Given the description of an element on the screen output the (x, y) to click on. 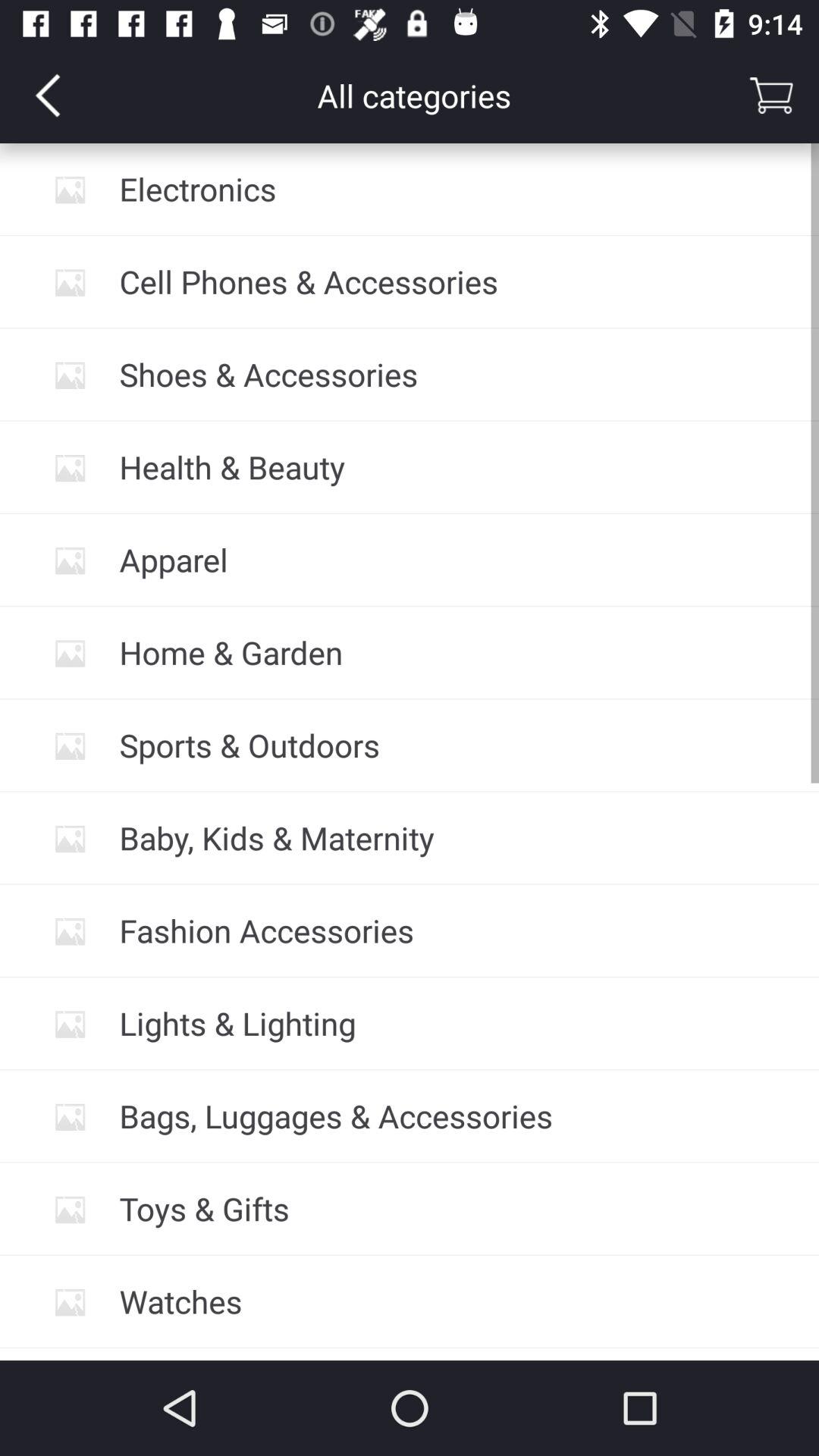
view basket (771, 95)
